Given the description of an element on the screen output the (x, y) to click on. 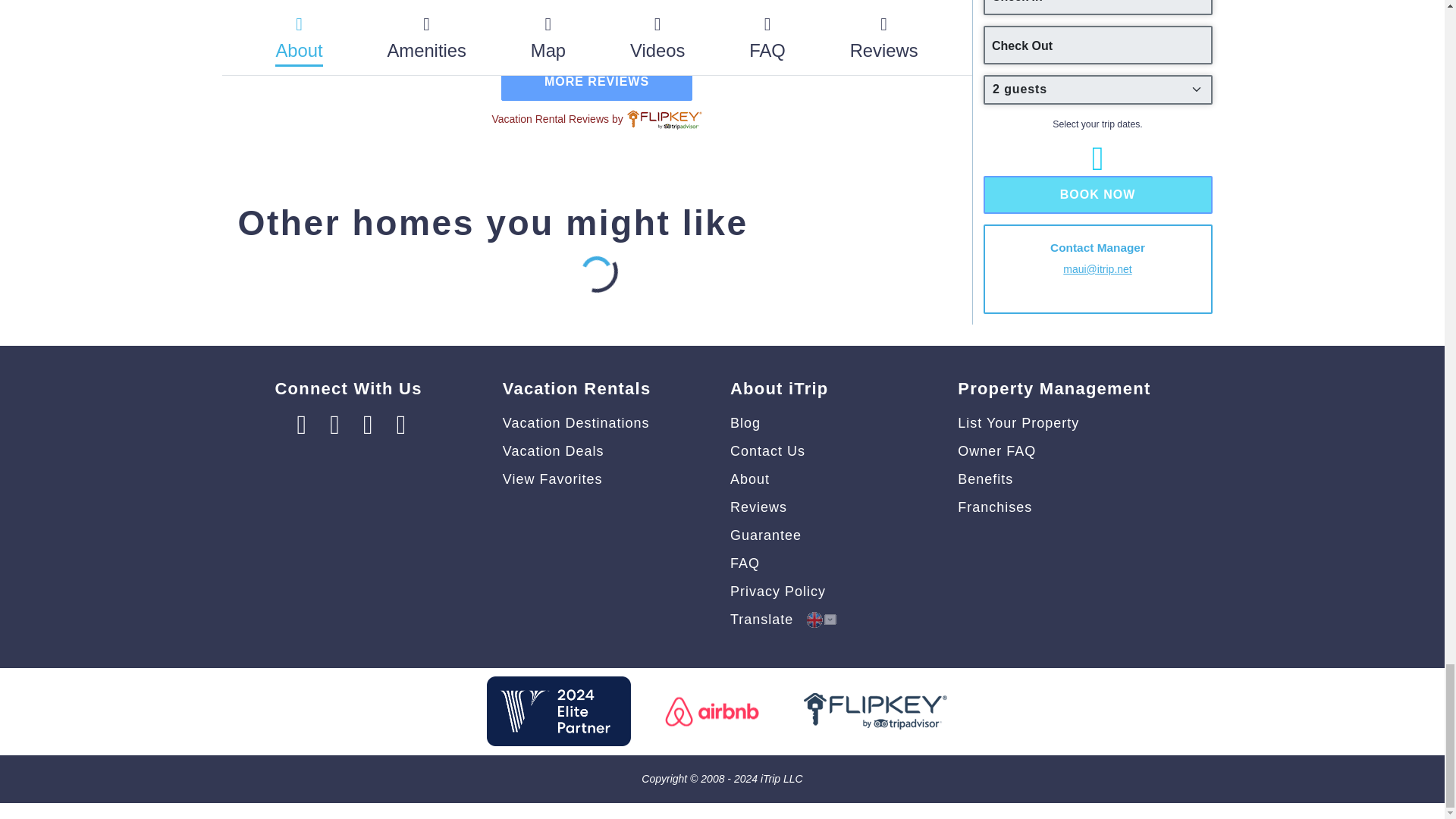
MORE REVIEWS (596, 81)
